Given the description of an element on the screen output the (x, y) to click on. 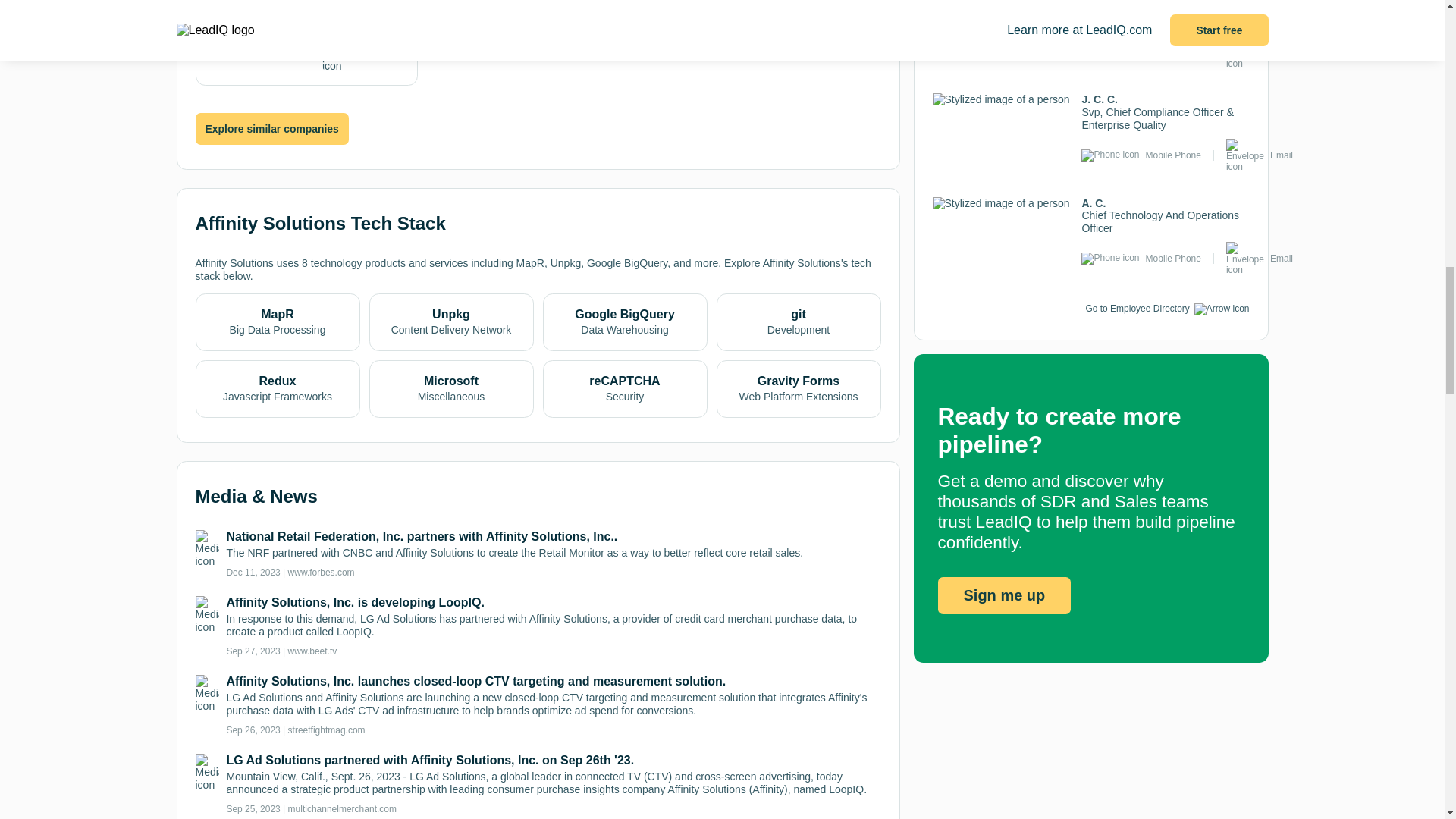
Explore similar companies (272, 129)
Explore similar companies (272, 128)
